Given the description of an element on the screen output the (x, y) to click on. 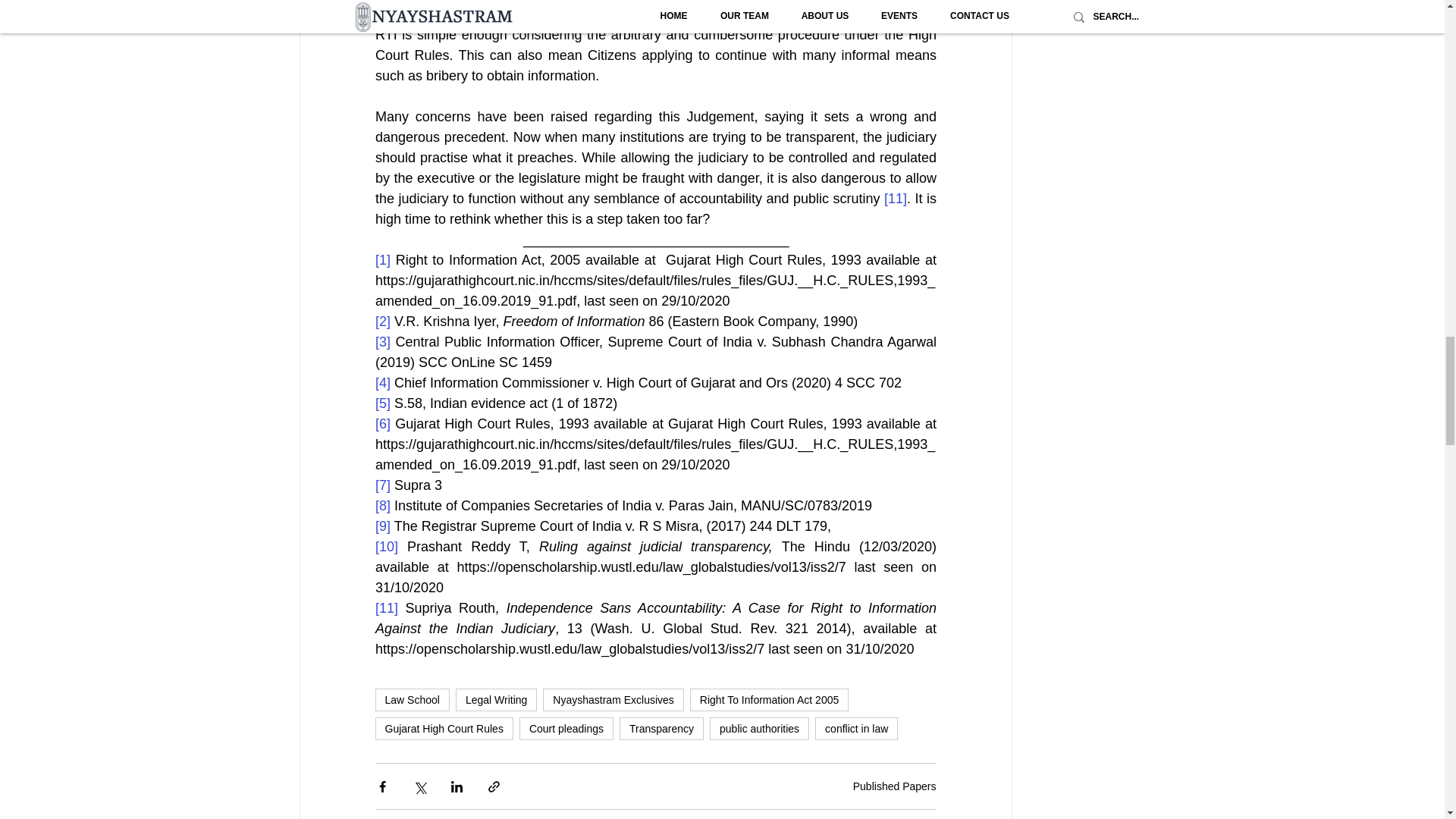
Published Papers (894, 786)
Legal Writing (496, 699)
Gujarat High Court Rules (443, 728)
conflict in law (856, 728)
Right To Information Act 2005 (769, 699)
public authorities (759, 728)
Court pleadings (565, 728)
Transparency (661, 728)
Law School (411, 699)
Nyayshastram Exclusives (613, 699)
